Given the description of an element on the screen output the (x, y) to click on. 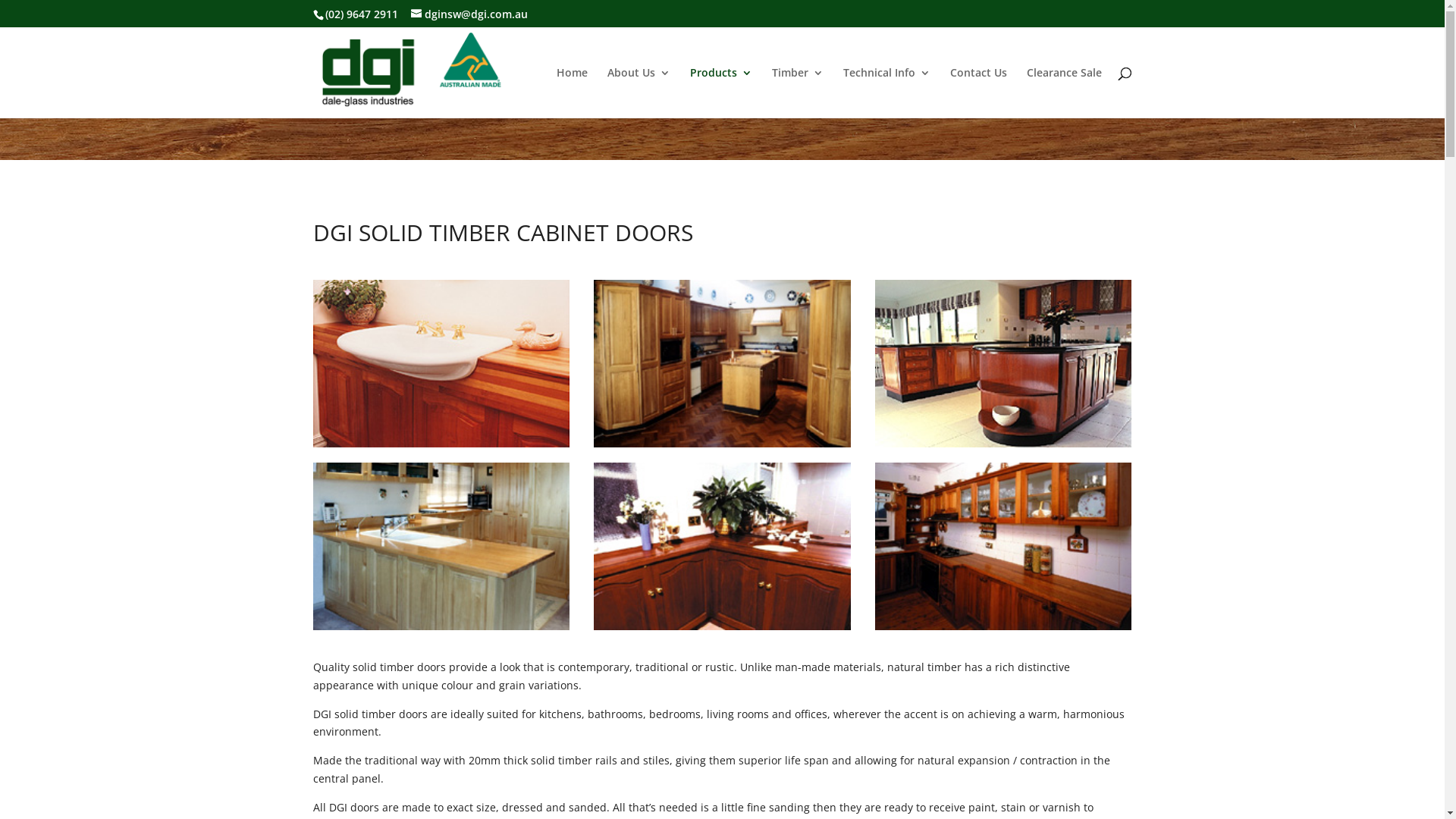
Timber Element type: text (797, 92)
Contact Us Element type: text (977, 92)
Products Element type: text (721, 92)
Clearance Sale Element type: text (1063, 92)
Home Element type: text (571, 92)
dginsw@dgi.com.au Element type: text (469, 13)
Technical Info Element type: text (886, 92)
About Us Element type: text (637, 92)
